Given the description of an element on the screen output the (x, y) to click on. 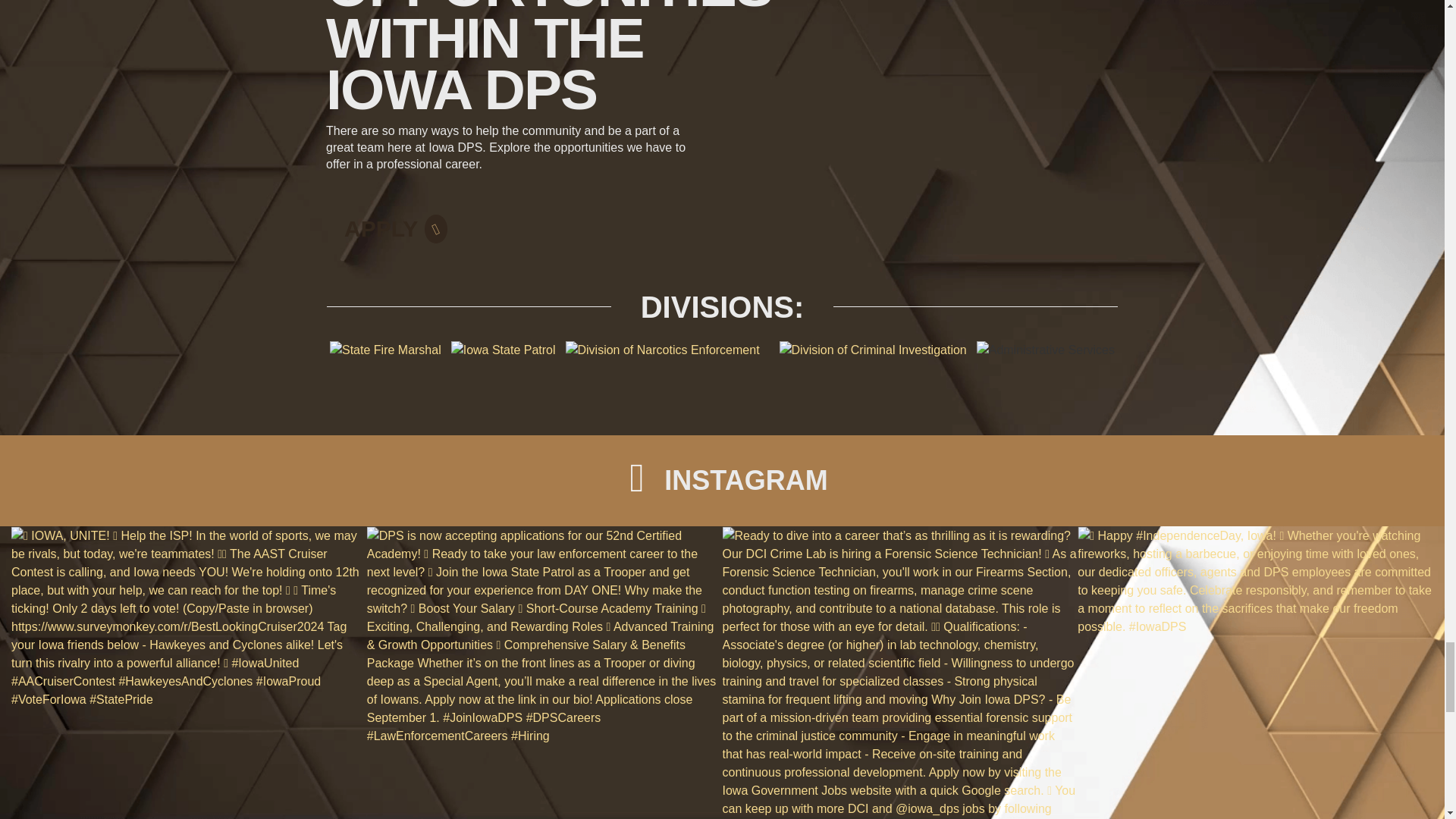
APPLY (395, 221)
